Given the description of an element on the screen output the (x, y) to click on. 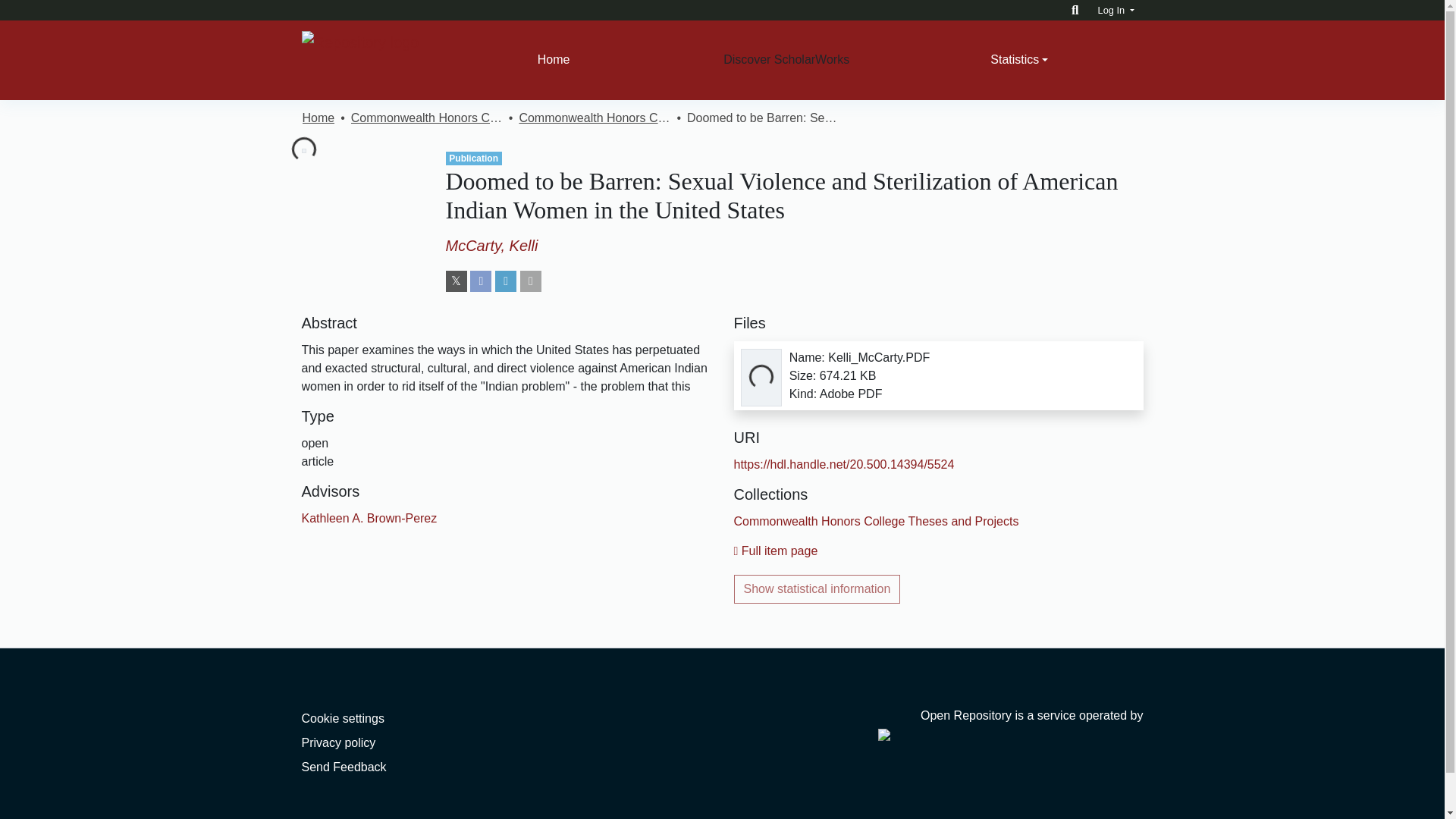
Show statistical information (817, 588)
Kathleen A. Brown-Perez (369, 517)
Send Feedback (344, 766)
Statistics (1018, 59)
McCarty, Kelli (491, 245)
Home (552, 59)
Cookie settings (342, 717)
Open Repository is a service operated by (1009, 725)
Search (1075, 10)
Commonwealth Honors College (426, 117)
Log In (1115, 9)
Commonwealth Honors College Theses and Projects (593, 117)
Home (317, 117)
Privacy policy (338, 742)
Commonwealth Honors College Theses and Projects (876, 521)
